Given the description of an element on the screen output the (x, y) to click on. 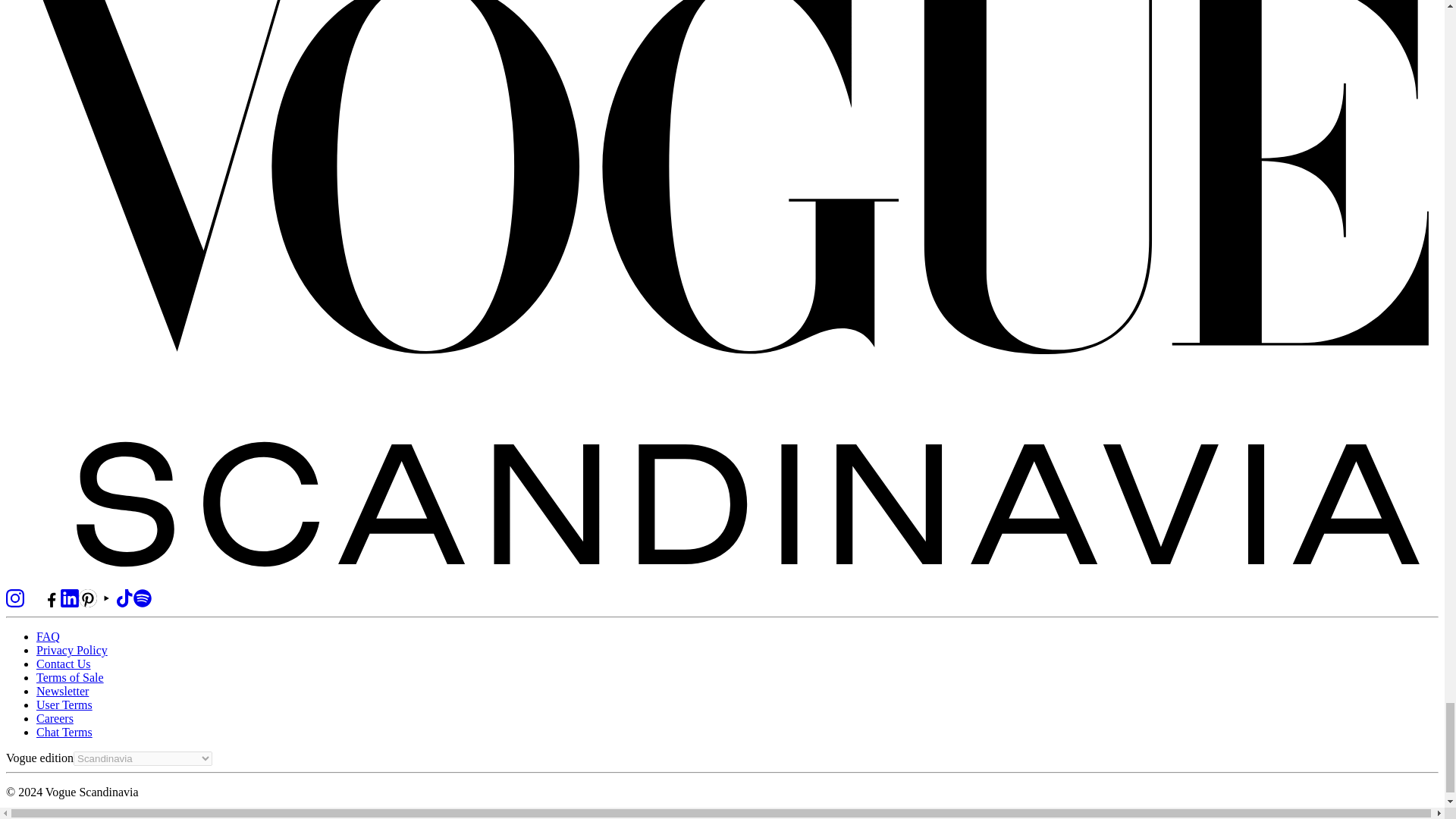
Terms of Sale (69, 676)
FAQ (47, 635)
Careers (55, 717)
User Terms (64, 704)
Chat Terms (64, 731)
Newsletter (62, 690)
Privacy Policy (71, 649)
Contact Us (63, 663)
